Given the description of an element on the screen output the (x, y) to click on. 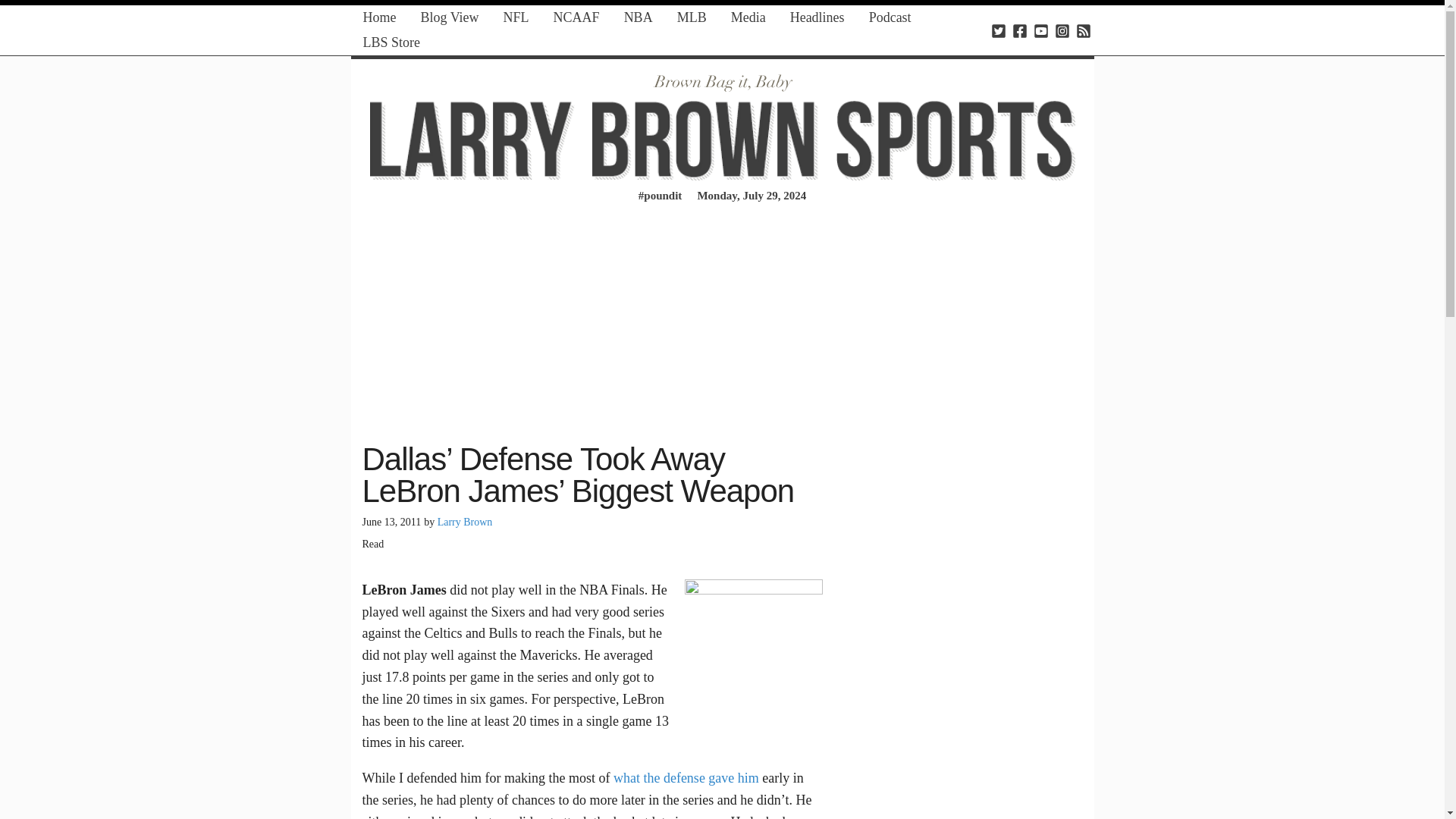
Podcast (890, 17)
Home (378, 17)
View Larry Brown Sports Twitter (998, 29)
View Larry Brown Sports Youtube (1040, 29)
Subscribe to Larry Brown Sports RSS Feed (1082, 29)
NFL (516, 17)
NBA (638, 17)
LBS Store (391, 42)
Media (748, 17)
Headlines (817, 17)
NCAAF (576, 17)
View Larry Brown Sports Facebook (1018, 29)
MLB (692, 17)
Larry Brown (465, 521)
Blog View (448, 17)
